Given the description of an element on the screen output the (x, y) to click on. 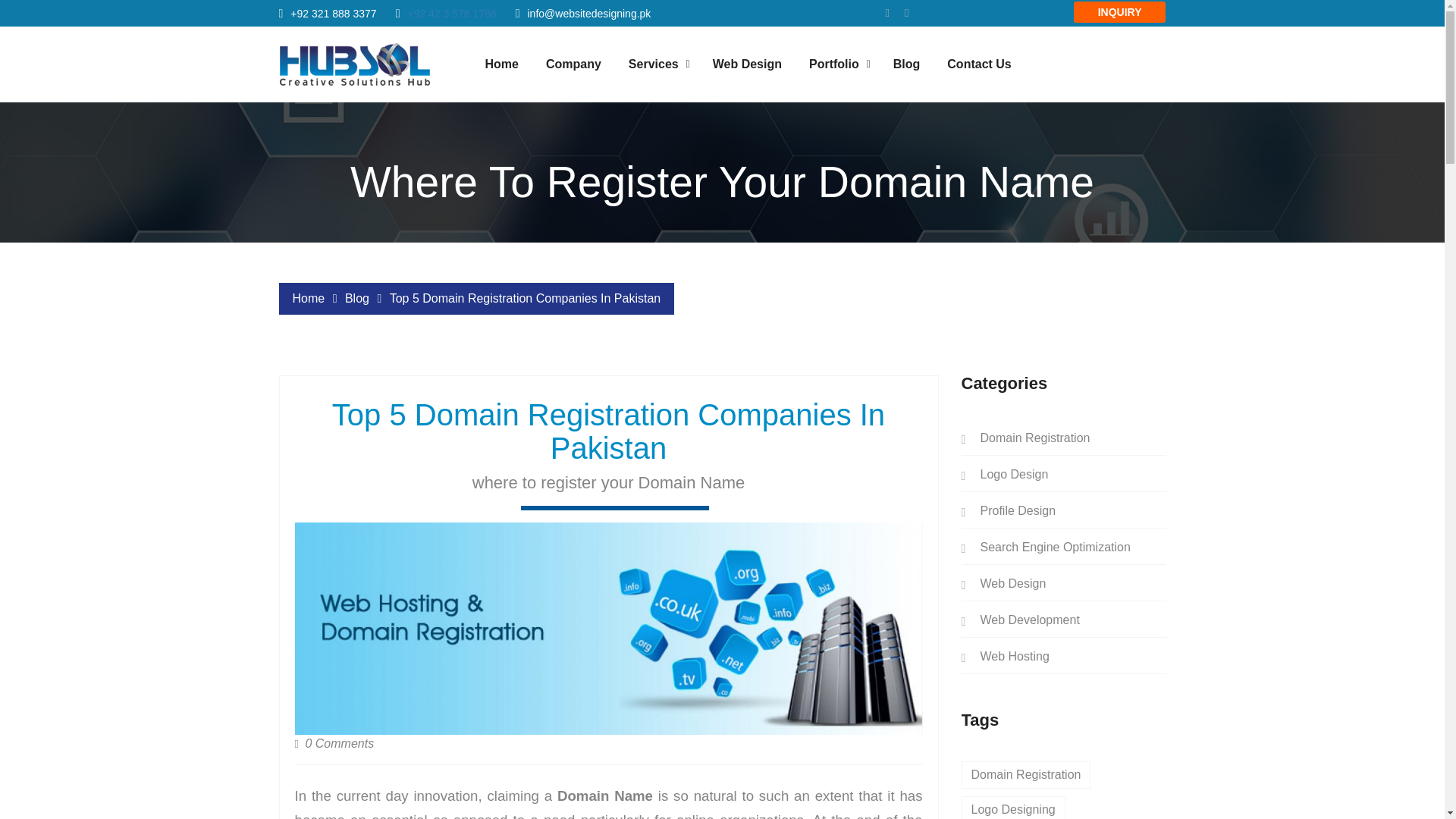
Web Design (747, 64)
Contact Us (978, 64)
Services (653, 64)
0 Comments (334, 743)
Blog (357, 297)
Blog (906, 64)
Home (308, 297)
Home (501, 64)
Company (573, 64)
Domain Registration (1025, 437)
